Given the description of an element on the screen output the (x, y) to click on. 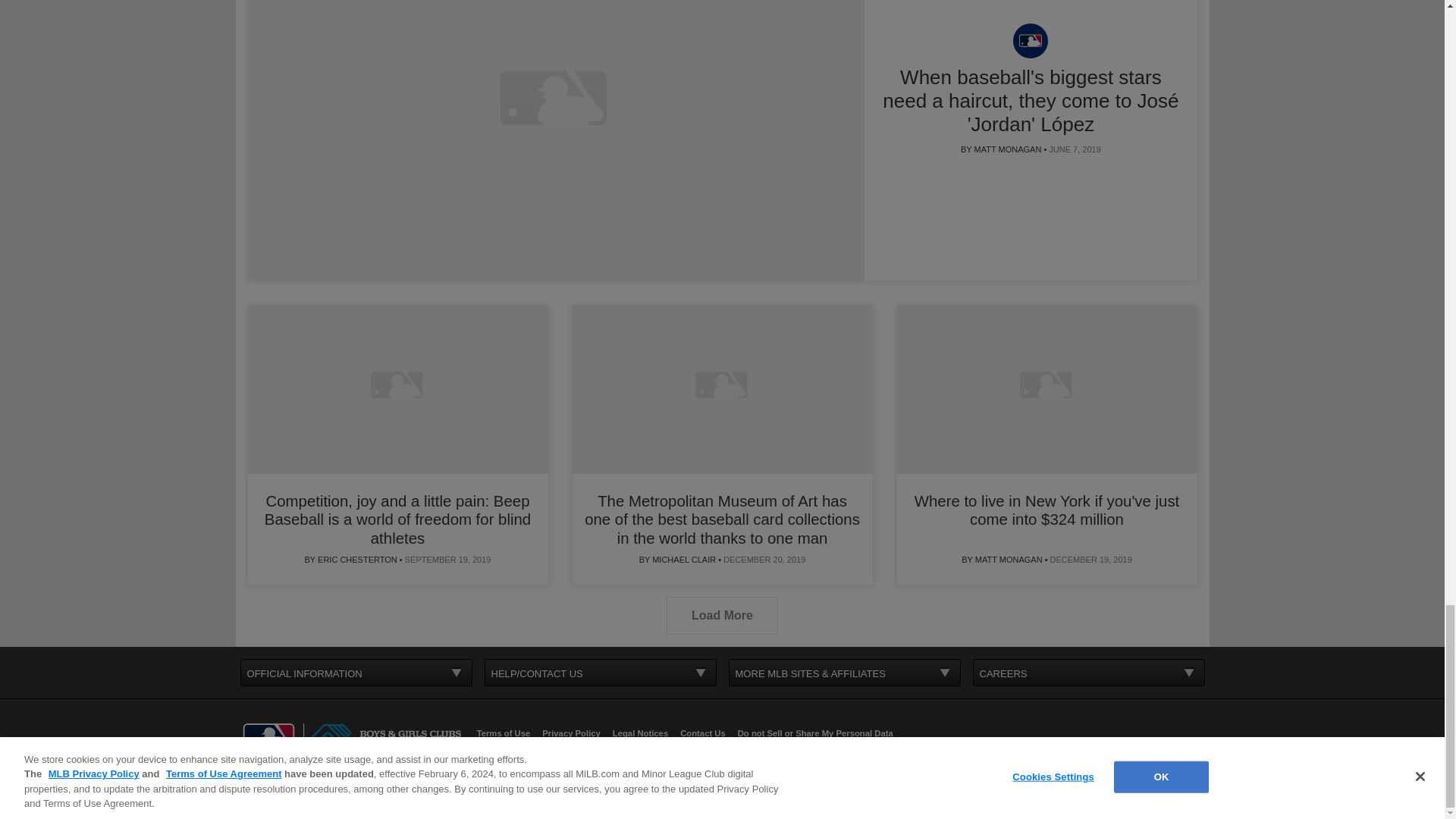
OFFICIAL INFORMATION (356, 673)
Follow on instagram (443, 783)
Follow on facebook (372, 783)
Follow on twitter (408, 783)
CAREERS (1089, 673)
